Given the description of an element on the screen output the (x, y) to click on. 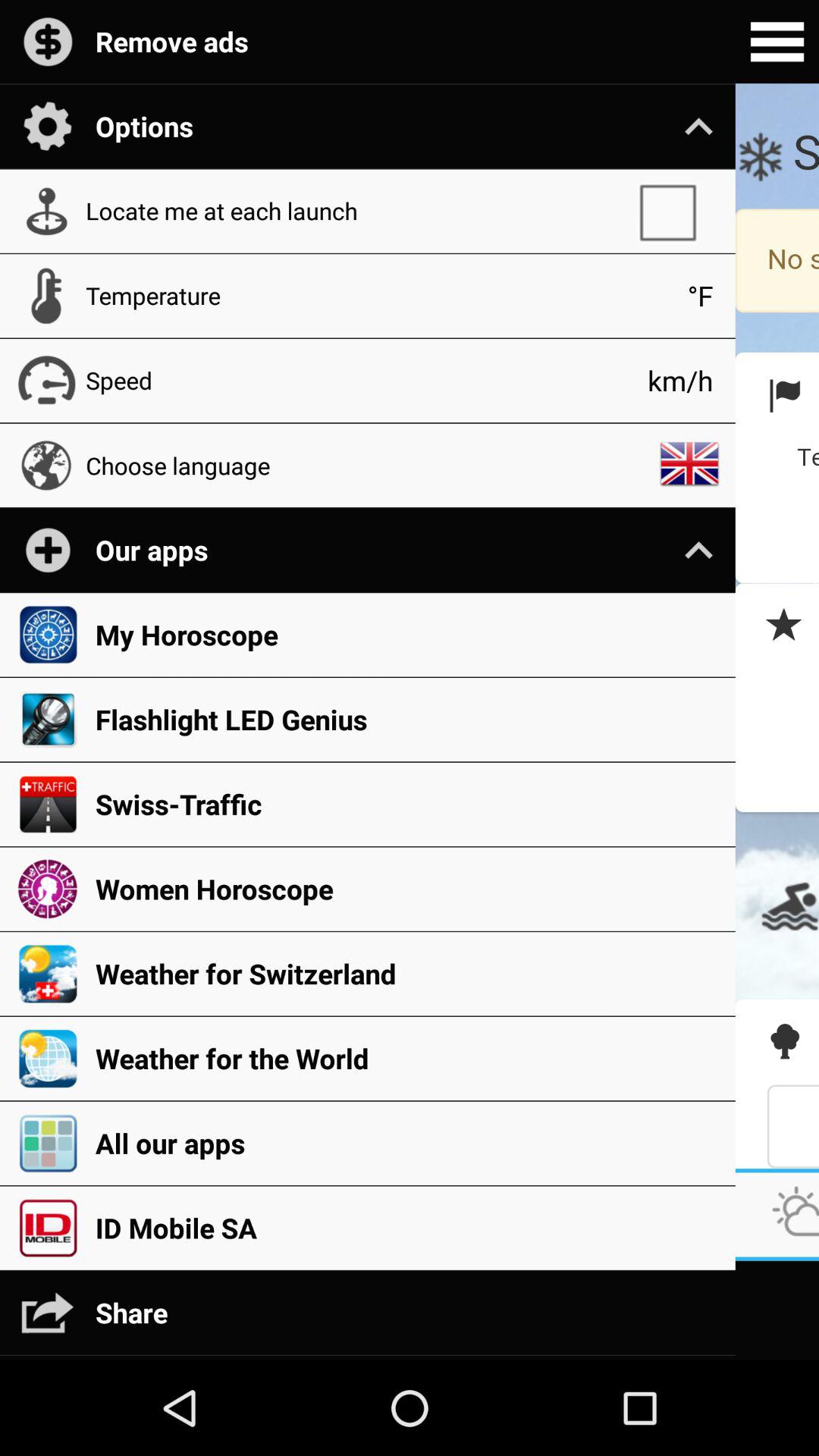
jump to women horoscope icon (407, 888)
